Given the description of an element on the screen output the (x, y) to click on. 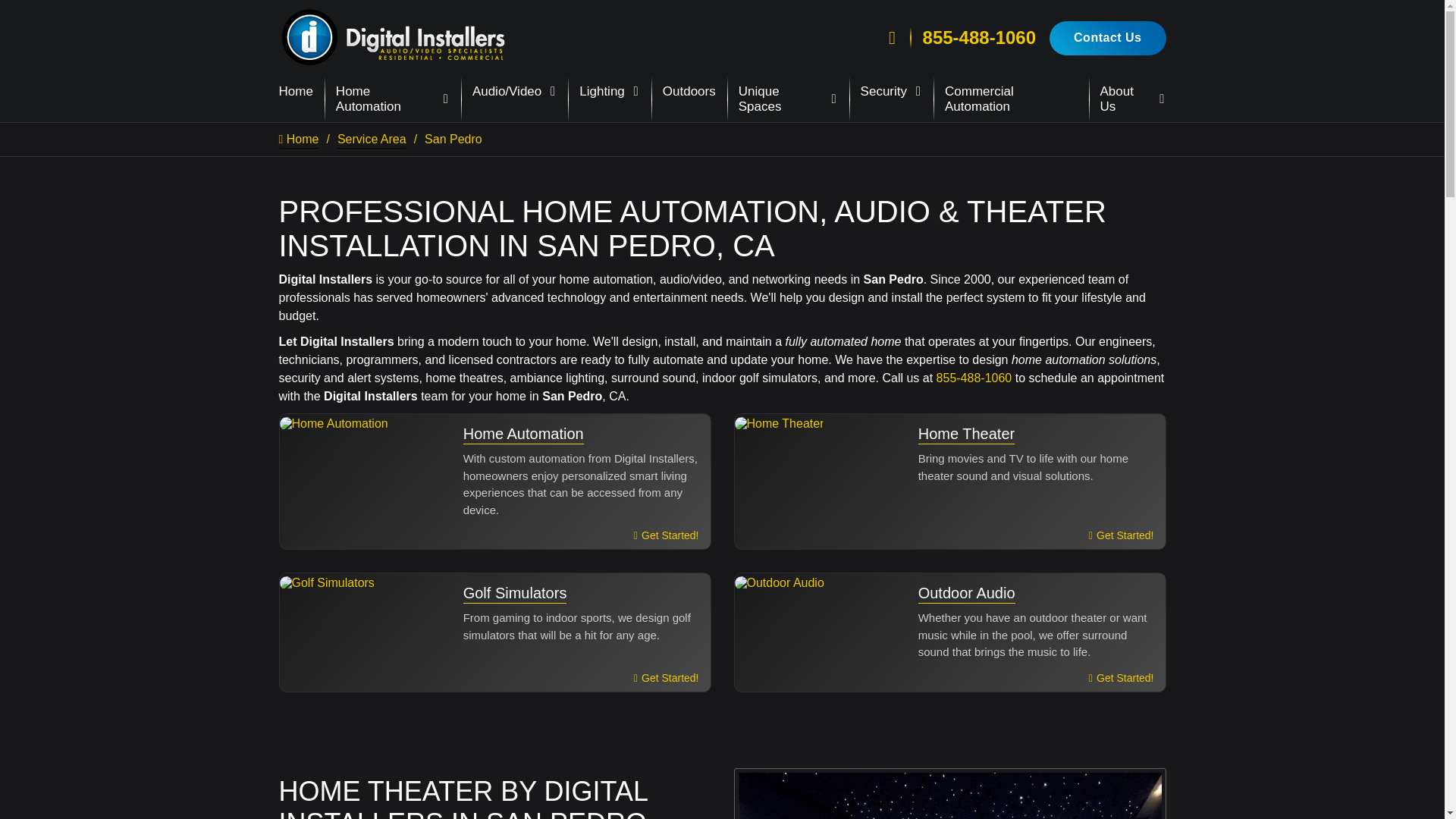
Commercial Automation (1010, 99)
855-488-1060 (979, 37)
Unique Spaces (788, 99)
Security (890, 91)
Outdoors (689, 91)
Home Automation (392, 99)
About Us (1133, 99)
Contact Us (1107, 38)
Home (296, 91)
Lighting (609, 91)
